Given the description of an element on the screen output the (x, y) to click on. 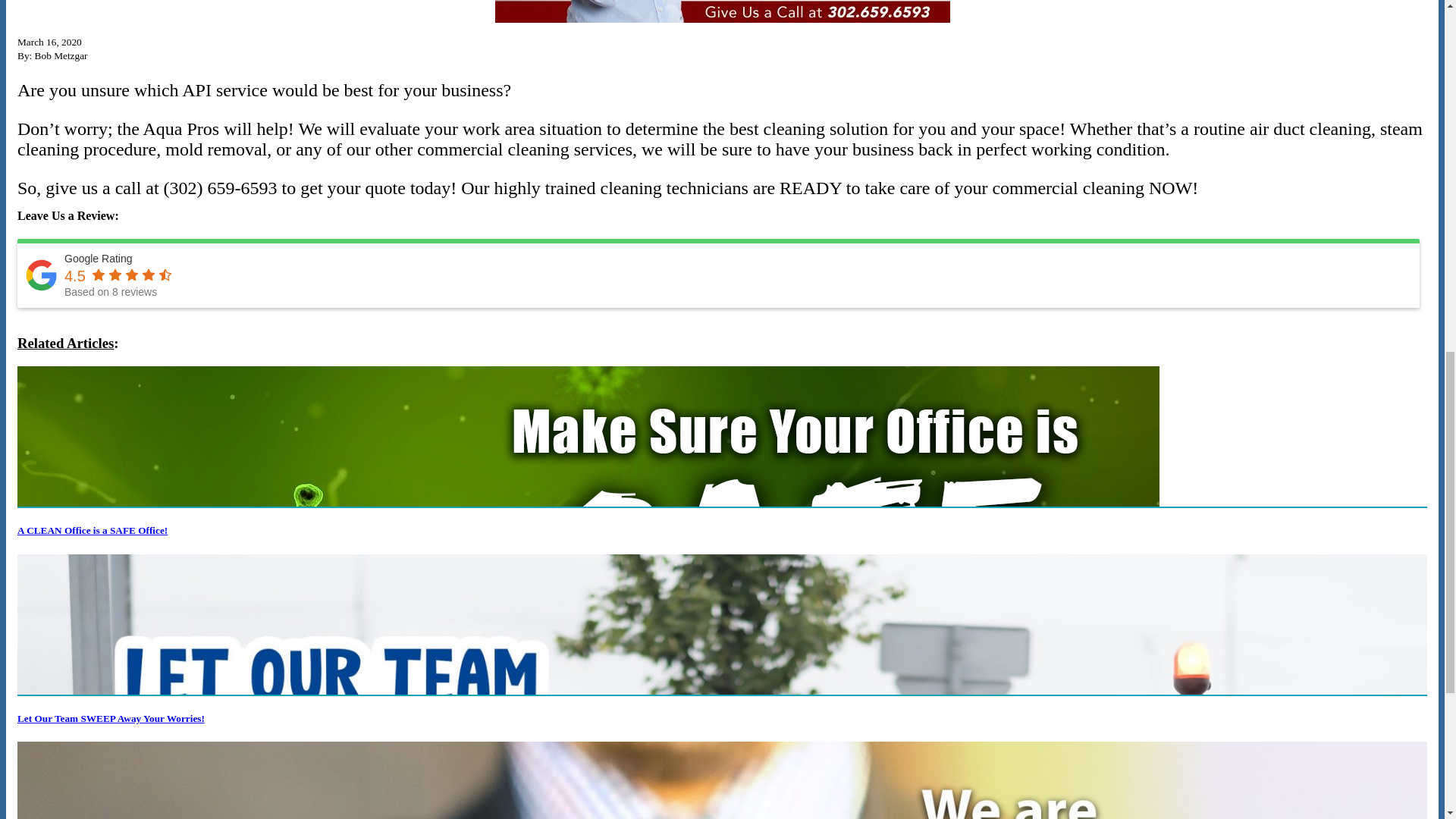
A CLEAN Office is a SAFE Office! (92, 530)
Let Our Team SWEEP Away Your Worries! (111, 717)
